Given the description of an element on the screen output the (x, y) to click on. 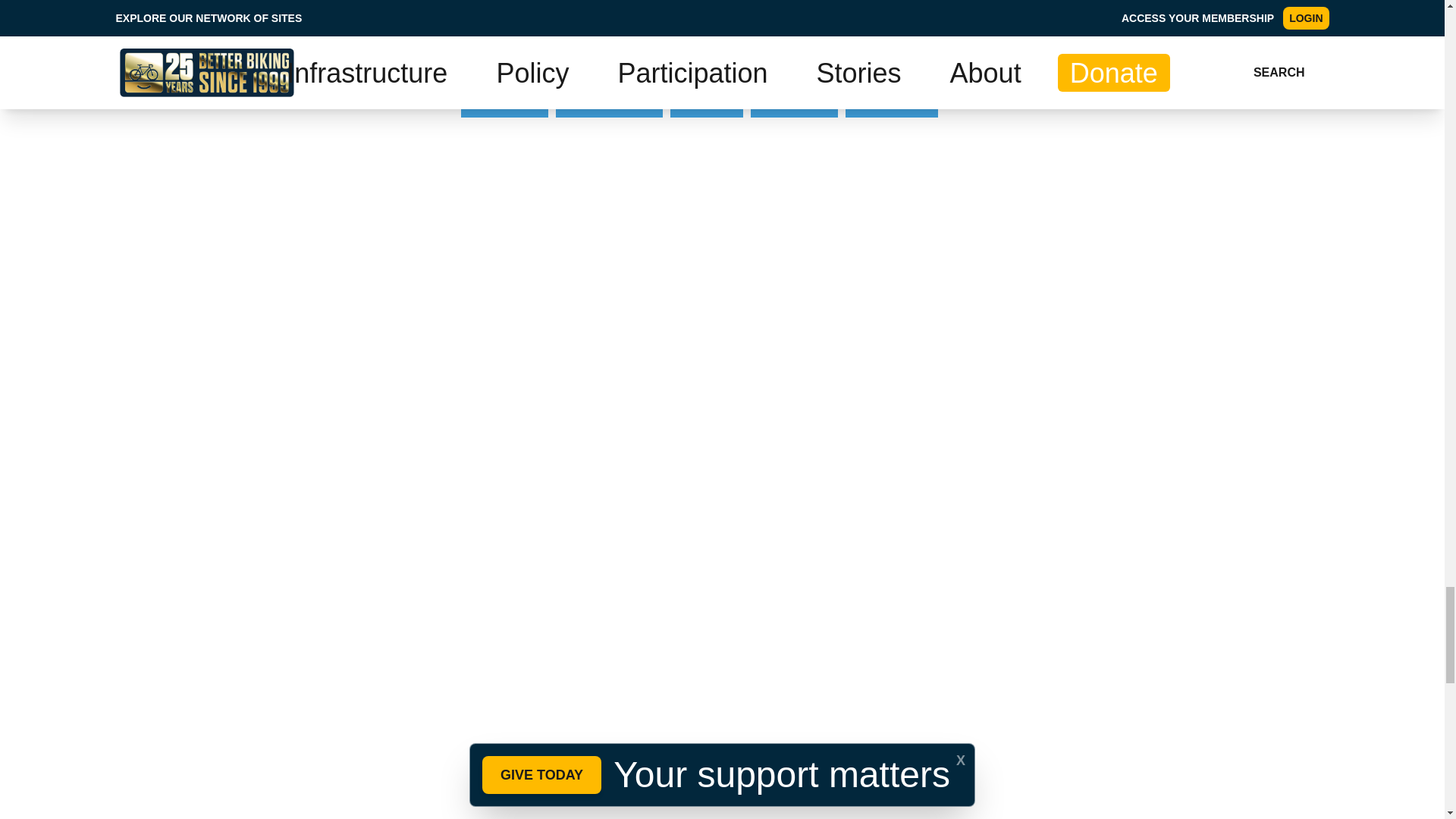
Colorado (504, 57)
Kentucky (699, 57)
Arkansas (504, 99)
Washington DC (897, 57)
Minnesota (600, 57)
Oregon (786, 57)
Washington (609, 99)
